Given the description of an element on the screen output the (x, y) to click on. 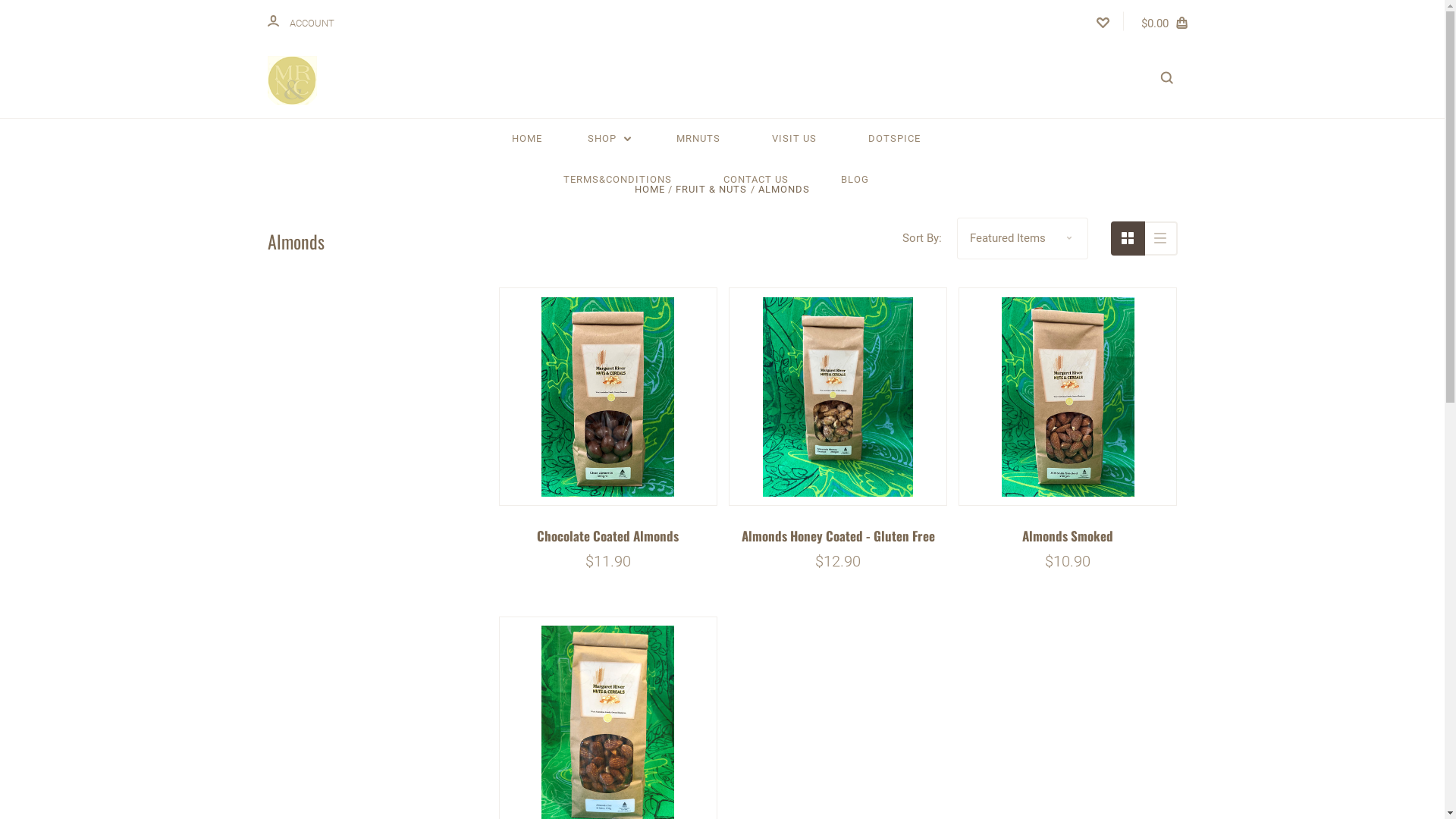
Almonds Honey Coated - Gluten Free Element type: text (838, 535)
Almonds Honey Coated - Gluten Free Element type: hover (837, 396)
HOME Element type: text (649, 188)
BLOG Element type: text (854, 179)
DOTSPICE Element type: text (894, 138)
CONTACT US Element type: text (755, 179)
search_icon Element type: text (1166, 79)
wishlist Element type: text (1102, 21)
MRNUTS Element type: text (698, 138)
Chocolate Coated Almonds Element type: text (607, 535)
TERMS&CONDITIONS Element type: text (617, 179)
ACCOUNT ACCOUNT Element type: text (299, 21)
ALMONDS Element type: text (783, 188)
SHOP DROPDOWN_ARROW Element type: text (609, 138)
Chocolate Coated Almonds Element type: hover (607, 396)
FRUIT & NUTS Element type: text (710, 188)
$0.00 bag Element type: text (1165, 21)
Almonds Smoked Element type: hover (1067, 396)
list icon Element type: text (1160, 238)
grid icon Element type: text (1127, 238)
Almonds Smoked Element type: text (1067, 535)
HOME Element type: text (526, 138)
VISIT US Element type: text (793, 138)
